Given the description of an element on the screen output the (x, y) to click on. 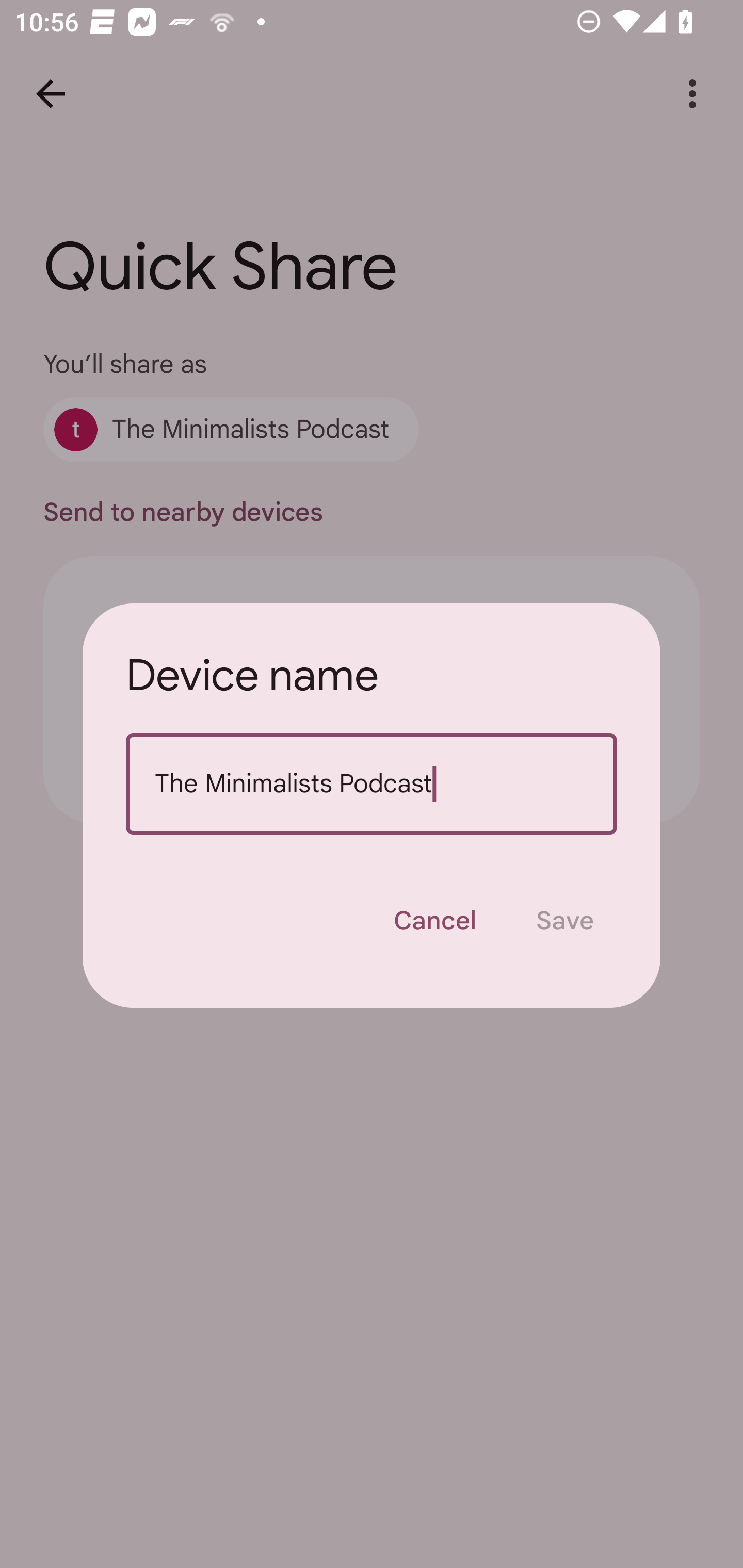
The Minimalists Podcast Device name (371, 783)
Cancel (434, 921)
Save (564, 921)
